Given the description of an element on the screen output the (x, y) to click on. 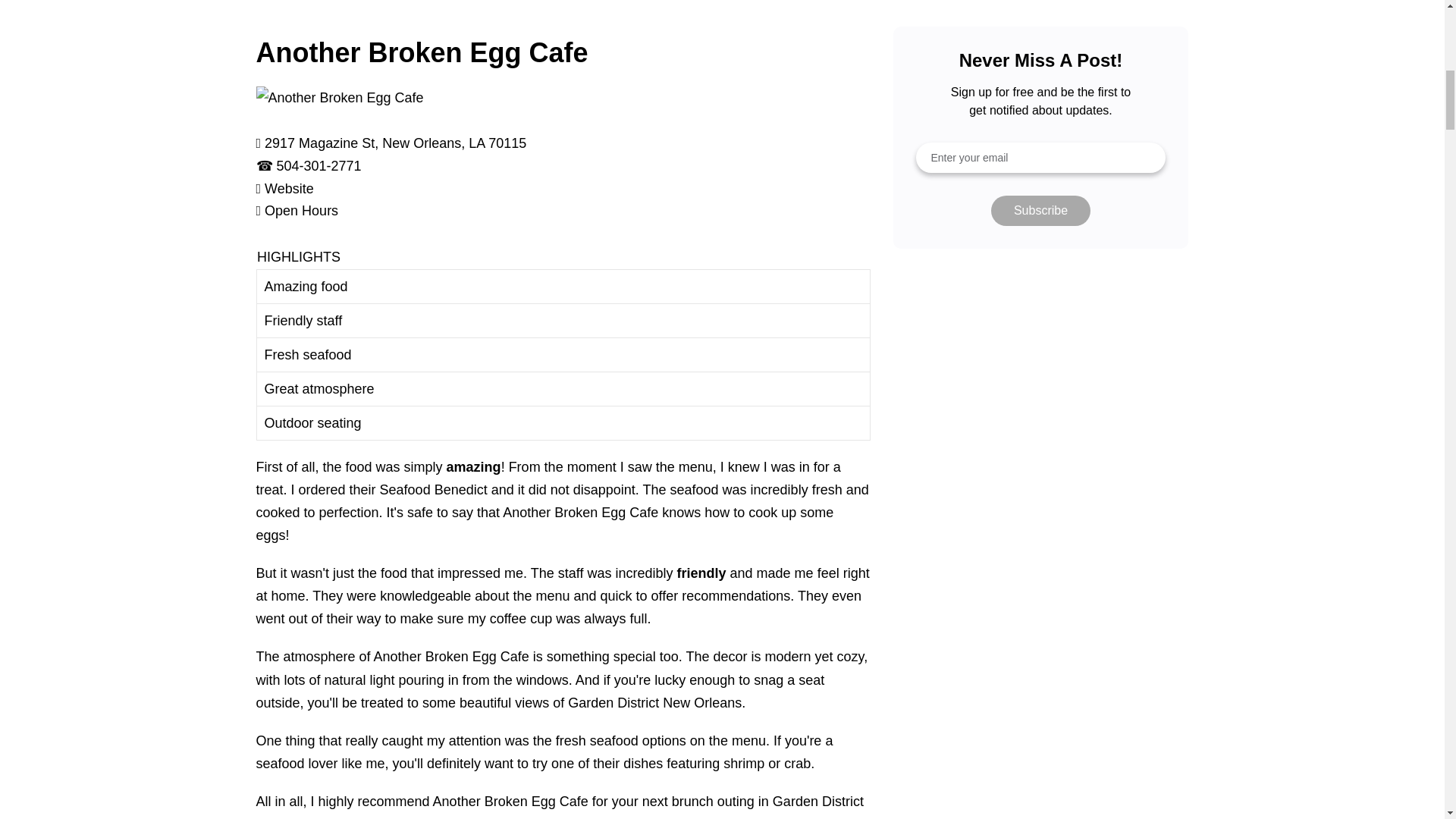
Website (289, 188)
504-301-2771 (318, 165)
best brunch in garden district new orleans (563, 14)
2917 Magazine St, New Orleans, LA 70115 (394, 142)
